Given the description of an element on the screen output the (x, y) to click on. 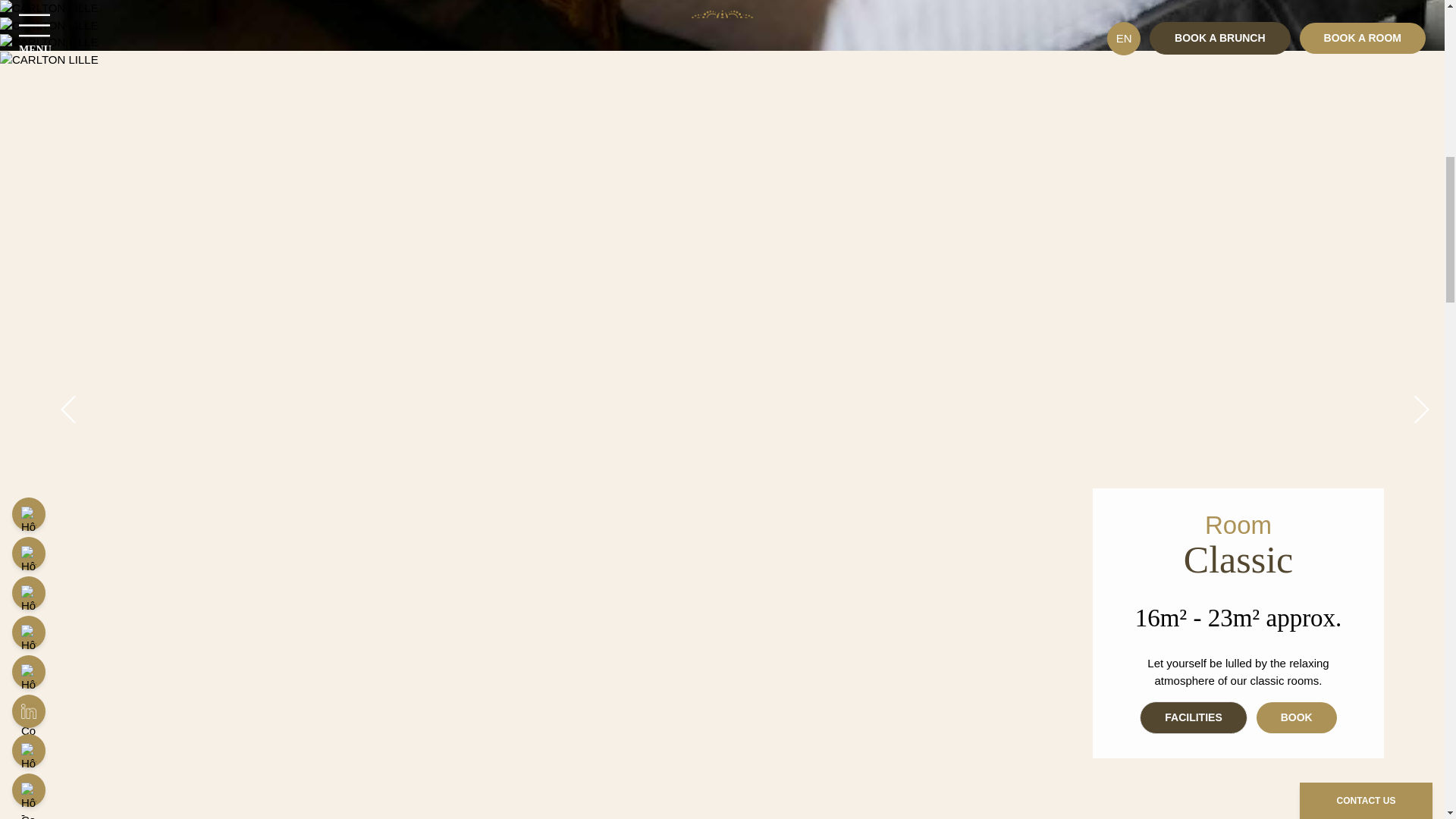
BOOK (1296, 717)
FACILITIES (1193, 717)
